Given the description of an element on the screen output the (x, y) to click on. 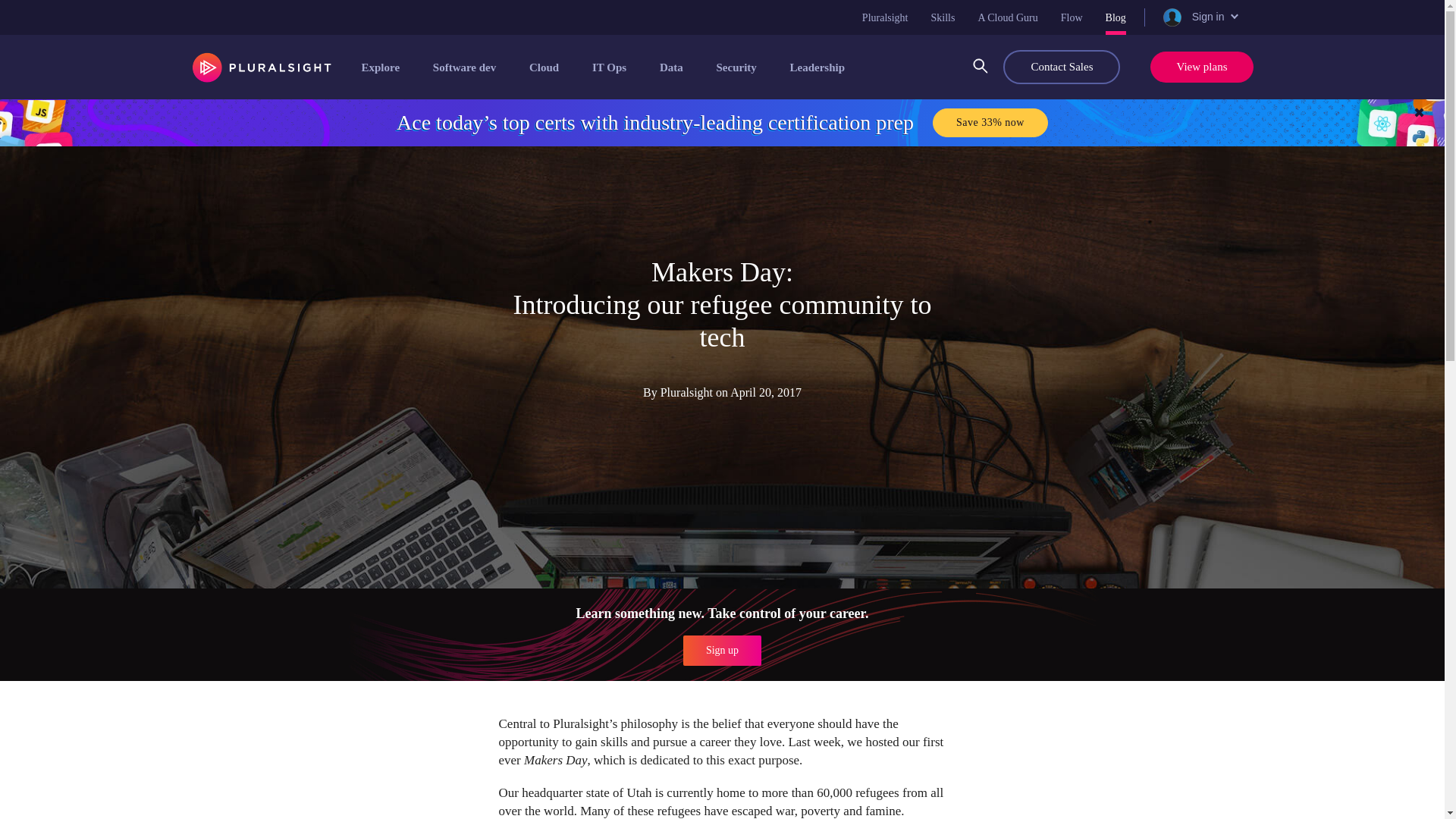
Blog (1115, 16)
View plans (1201, 66)
IT Ops (610, 66)
Pluralsight (884, 16)
Skills (943, 16)
Contact Sales (1061, 66)
Flow (1072, 16)
Explore (381, 66)
Cloud (545, 66)
A Cloud Guru (1006, 16)
